Given the description of an element on the screen output the (x, y) to click on. 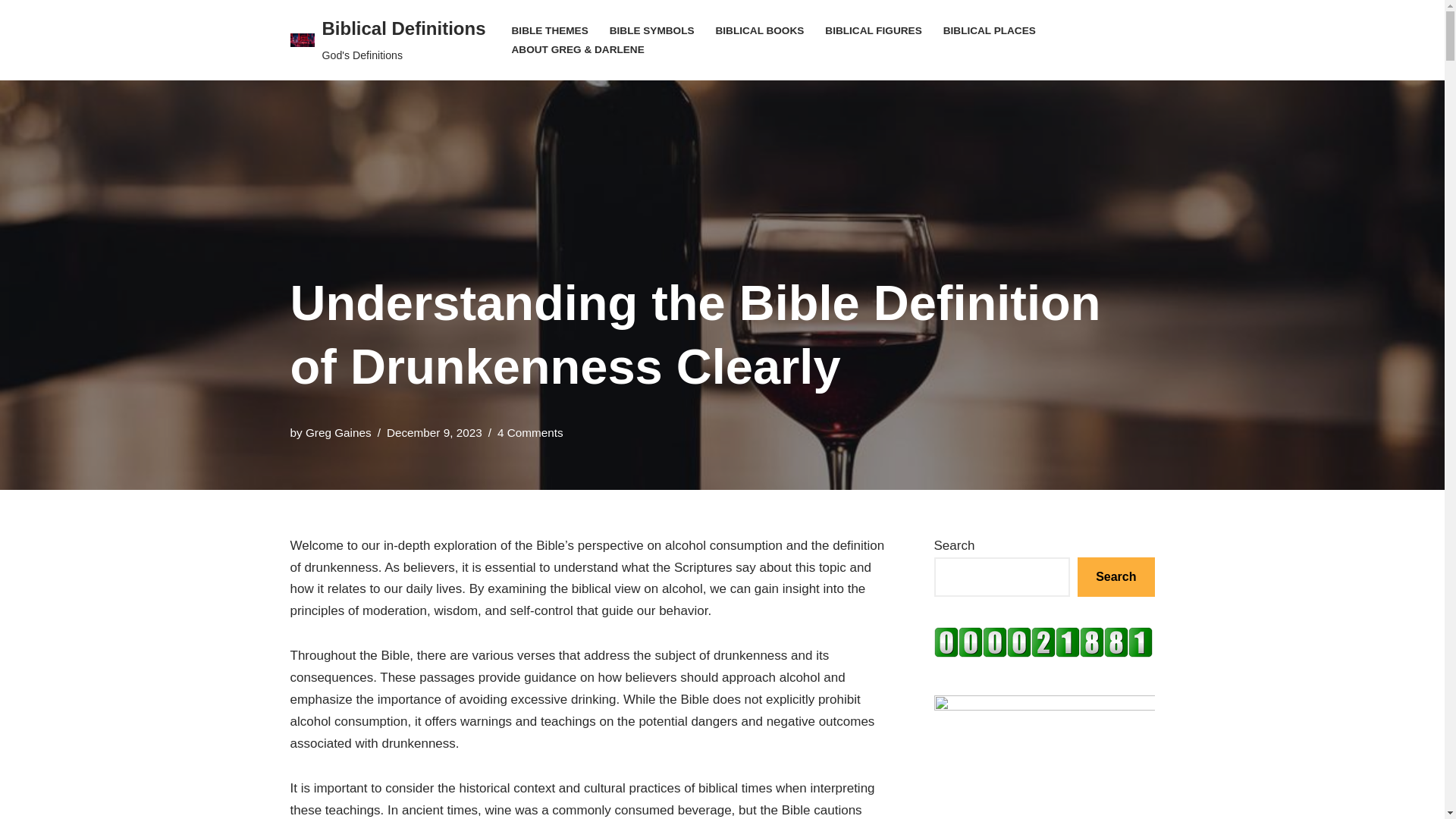
BIBLICAL FIGURES (873, 30)
4 Comments (530, 431)
BIBLE SYMBOLS (652, 30)
BIBLICAL BOOKS (760, 30)
Skip to content (11, 31)
Posts by Greg Gaines (338, 431)
free web counter (1043, 642)
free web counter (1043, 653)
BIBLE THEMES (550, 30)
Greg Gaines (338, 431)
